Given the description of an element on the screen output the (x, y) to click on. 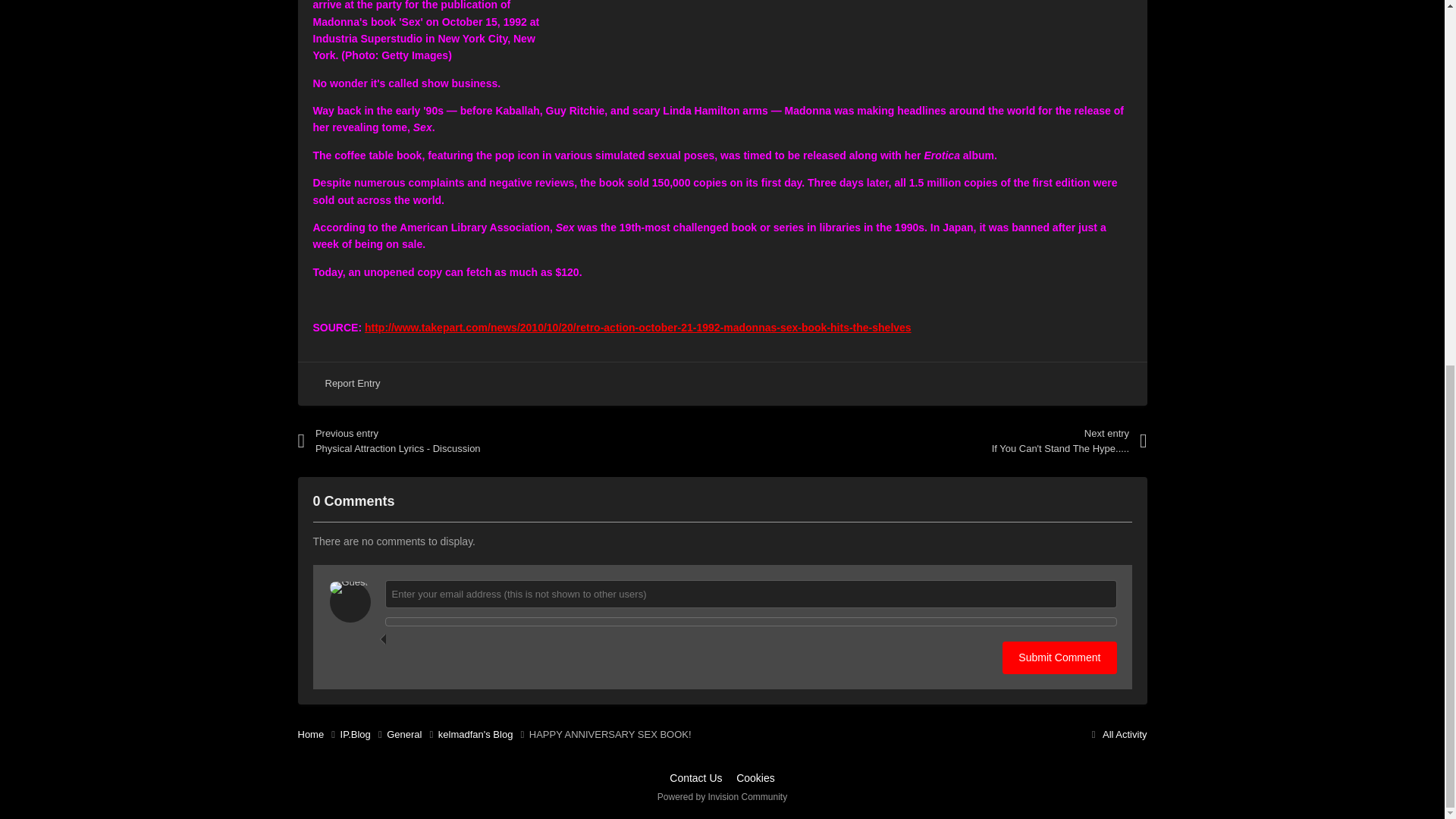
Report Entry (352, 383)
